Given the description of an element on the screen output the (x, y) to click on. 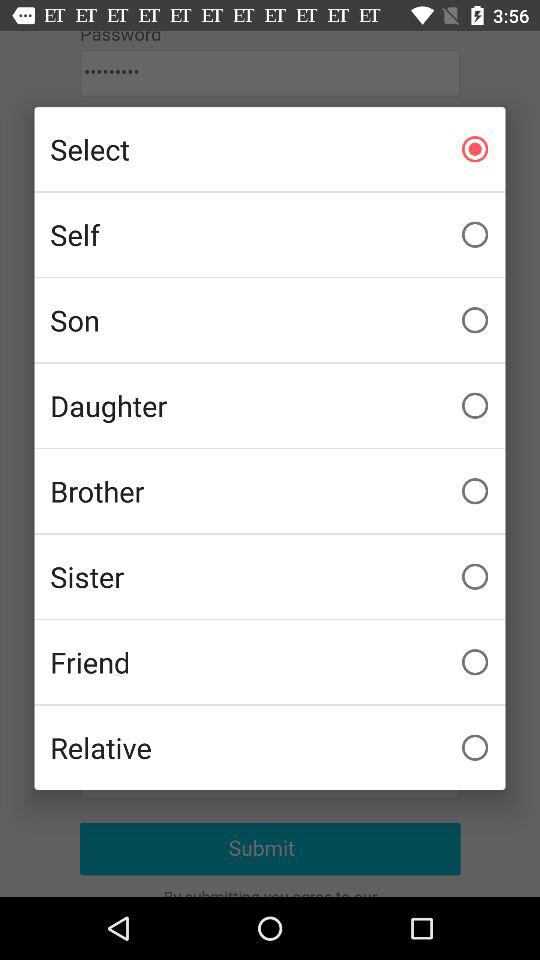
swipe until the brother icon (269, 491)
